Given the description of an element on the screen output the (x, y) to click on. 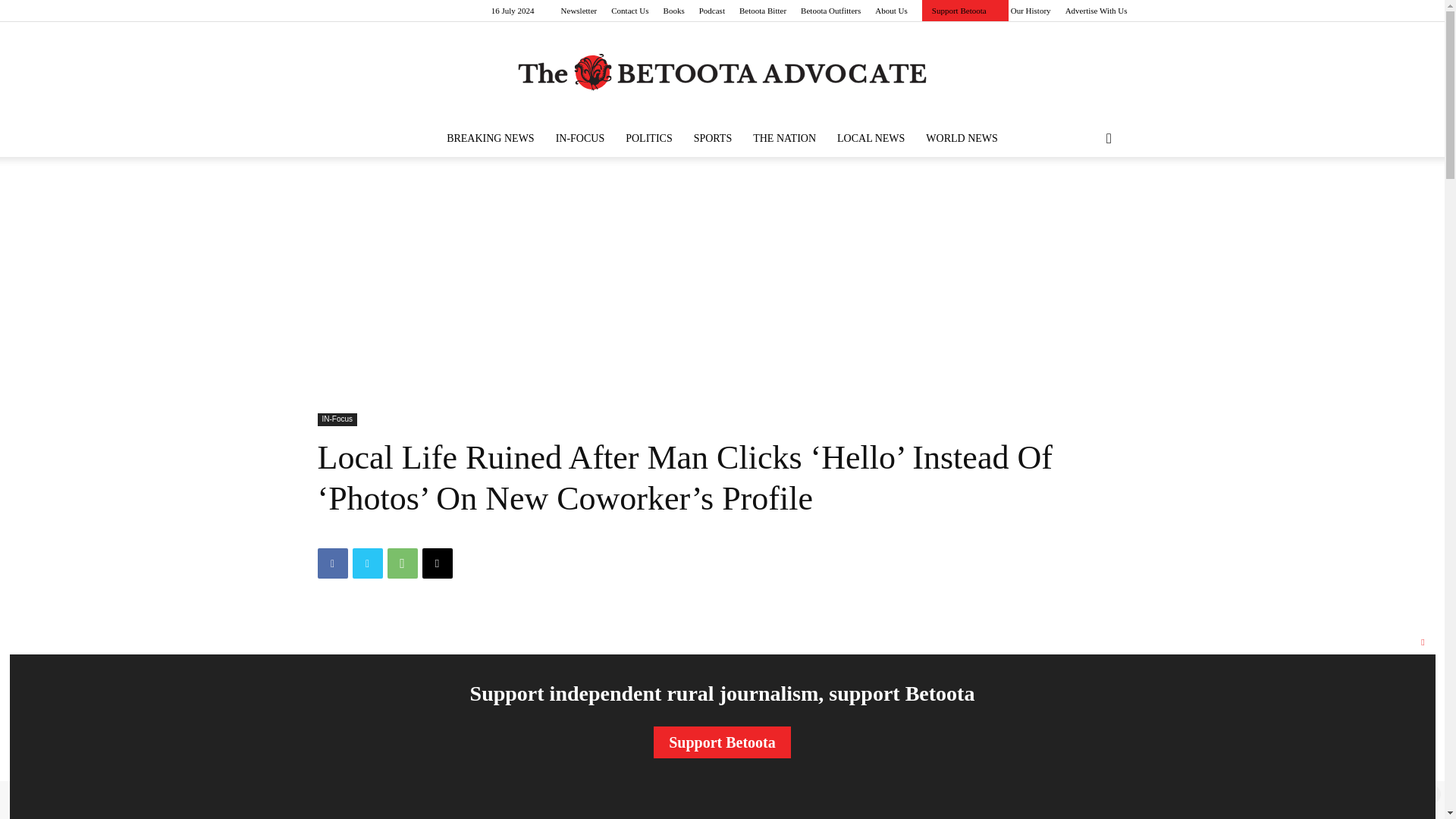
Books (673, 10)
Betoota Outfitters (830, 10)
Betoota Bitter (762, 10)
Newsletter (578, 10)
WhatsApp (401, 562)
Twitter (366, 562)
WORLD NEWS (962, 138)
BREAKING NEWS (489, 138)
THE NATION (784, 138)
Email (436, 562)
Podcast (711, 10)
Advertise With Us (1095, 10)
About Us (891, 10)
SPORTS (712, 138)
